Given the description of an element on the screen output the (x, y) to click on. 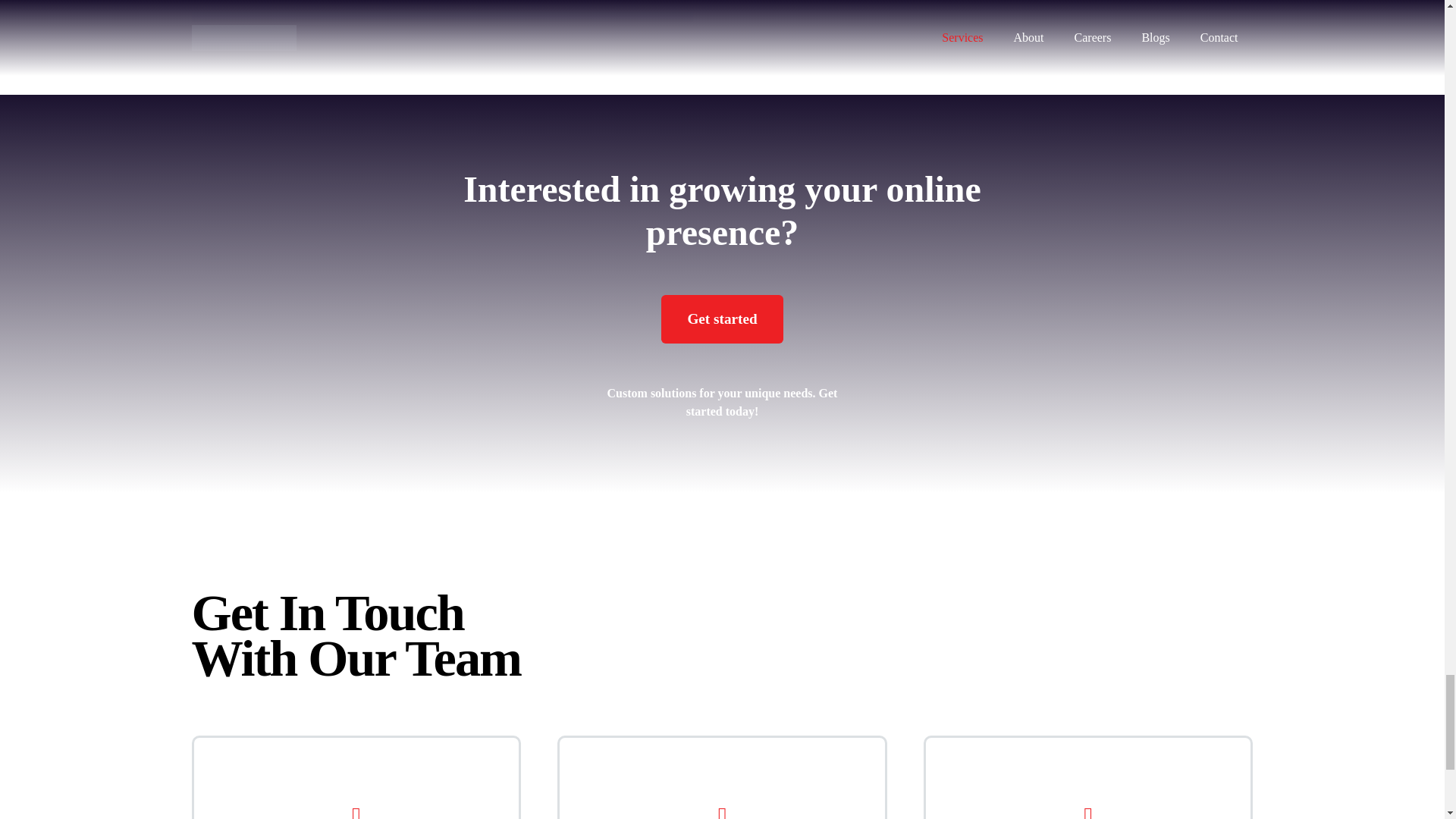
Get started (722, 318)
